Given the description of an element on the screen output the (x, y) to click on. 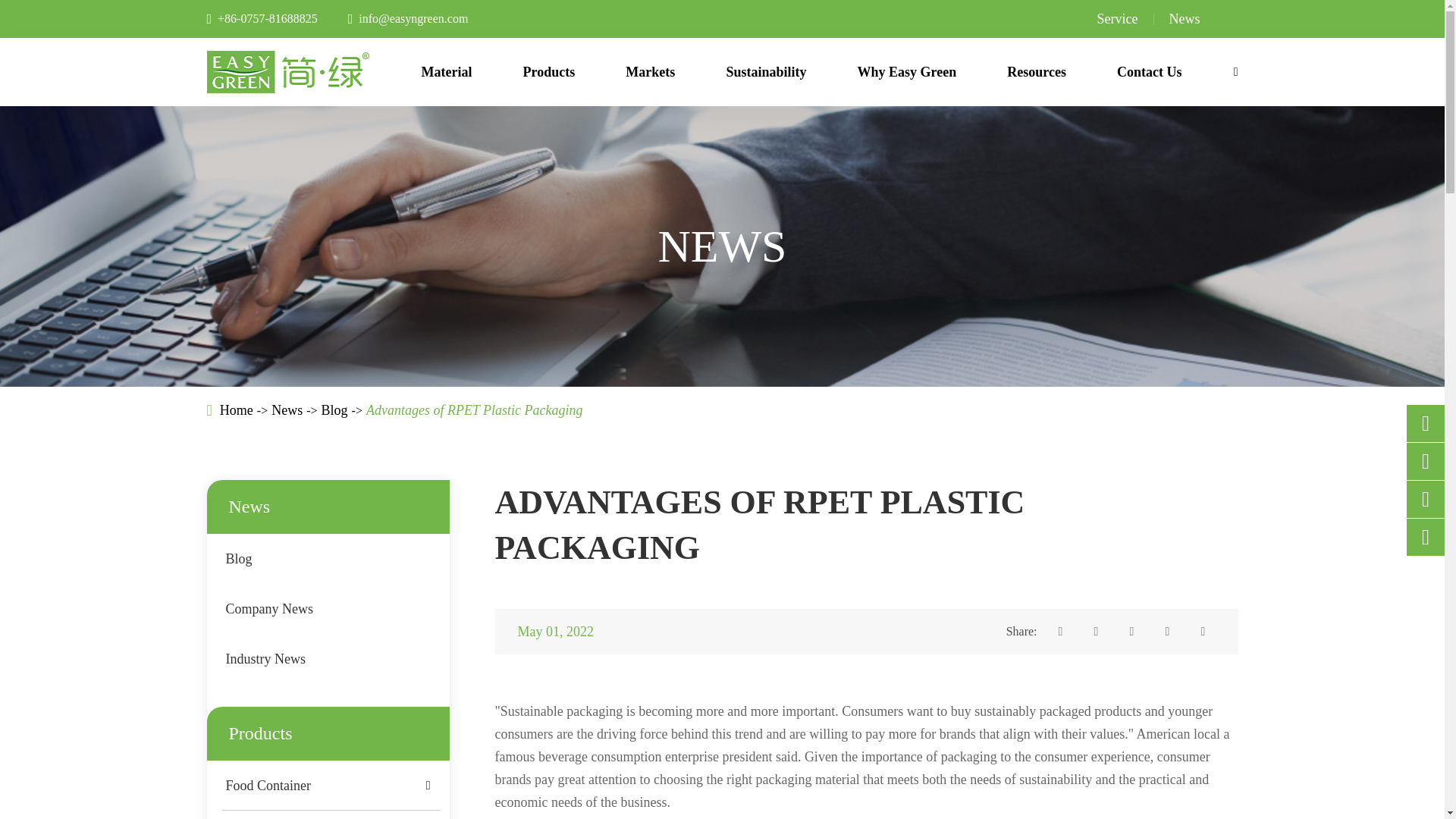
Markets (650, 71)
Why Easy Green (906, 71)
Sustainability (765, 71)
Contact Us (1149, 71)
News (286, 409)
Advantages of RPET Plastic Packaging (474, 409)
News (1184, 18)
Easy Green Eco Packaging Co., Ltd. (287, 71)
Service (1133, 18)
Material (446, 71)
Products (548, 71)
Blog (334, 409)
Resources (1036, 71)
